Given the description of an element on the screen output the (x, y) to click on. 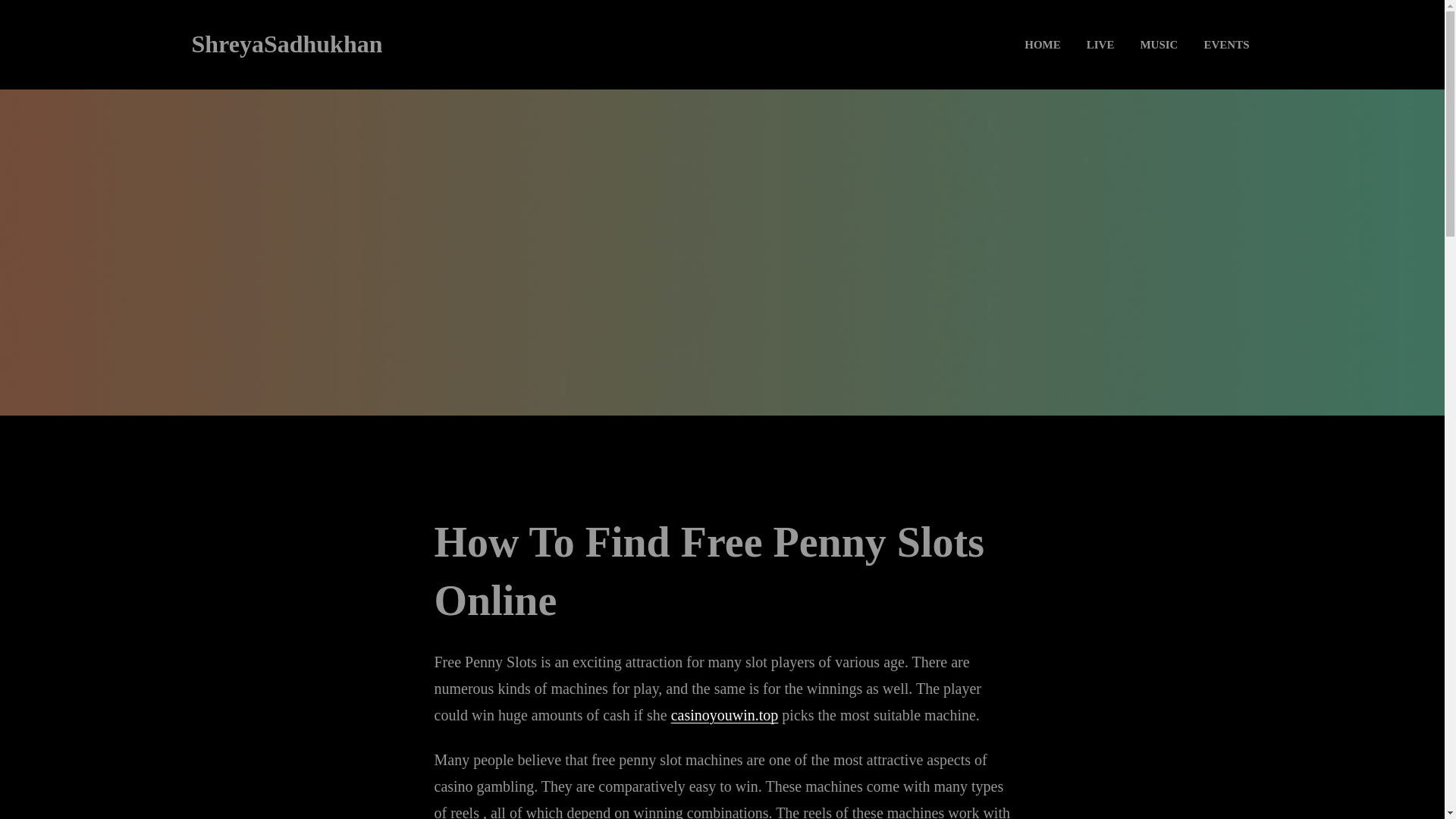
EVENTS (1225, 44)
MUSIC (1157, 44)
casinoyouwin.top (724, 714)
LIVE (1100, 44)
ShreyaSadhukhan (285, 43)
HOME (1042, 44)
